Given the description of an element on the screen output the (x, y) to click on. 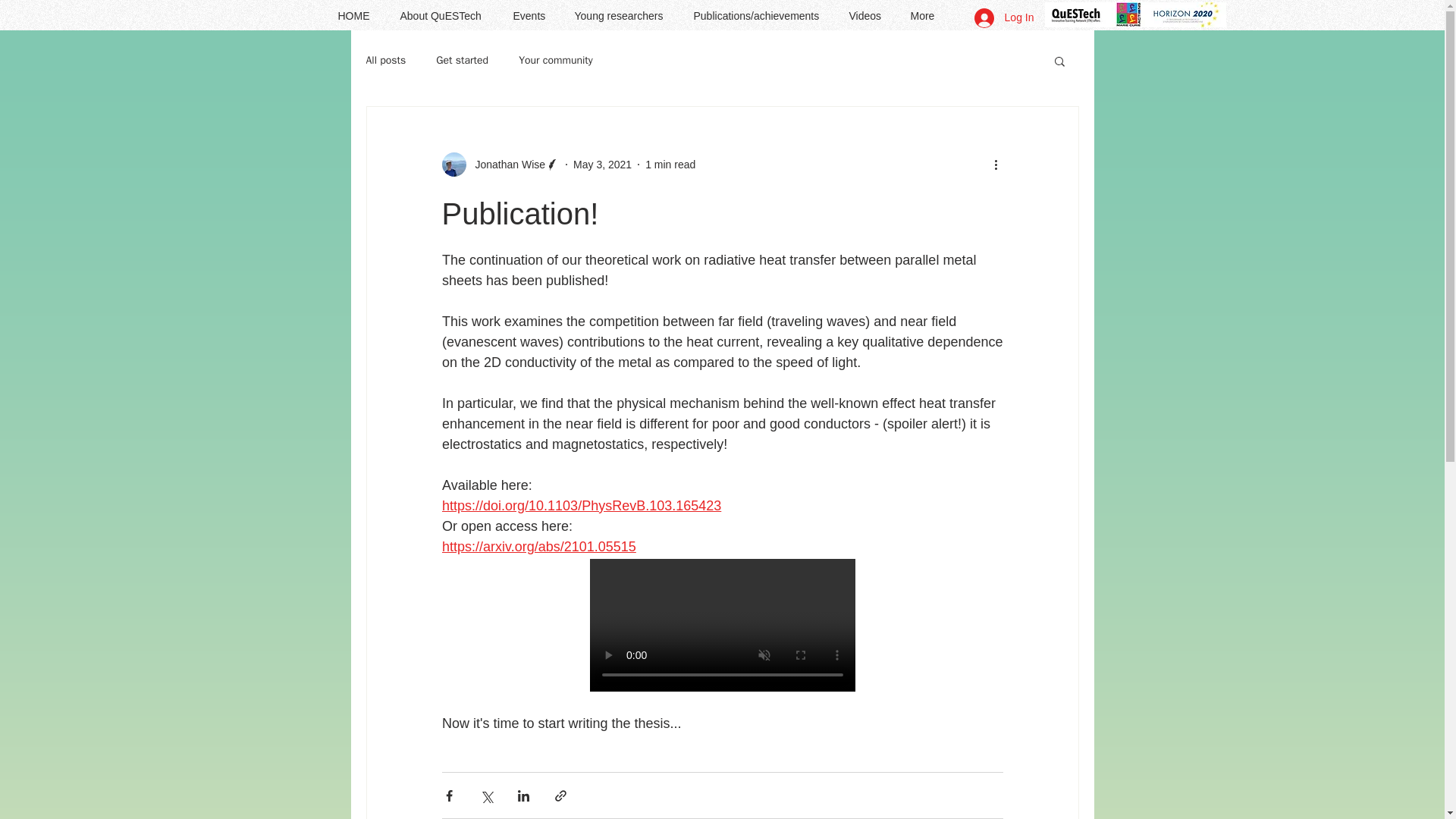
About QuESTech (444, 16)
May 3, 2021 (602, 163)
Jonathan Wise (500, 164)
1 min read (670, 163)
Your community (555, 60)
HOME (357, 16)
All posts (385, 60)
Videos (867, 16)
Jonathan Wise (504, 163)
Young researchers (621, 16)
